Given the description of an element on the screen output the (x, y) to click on. 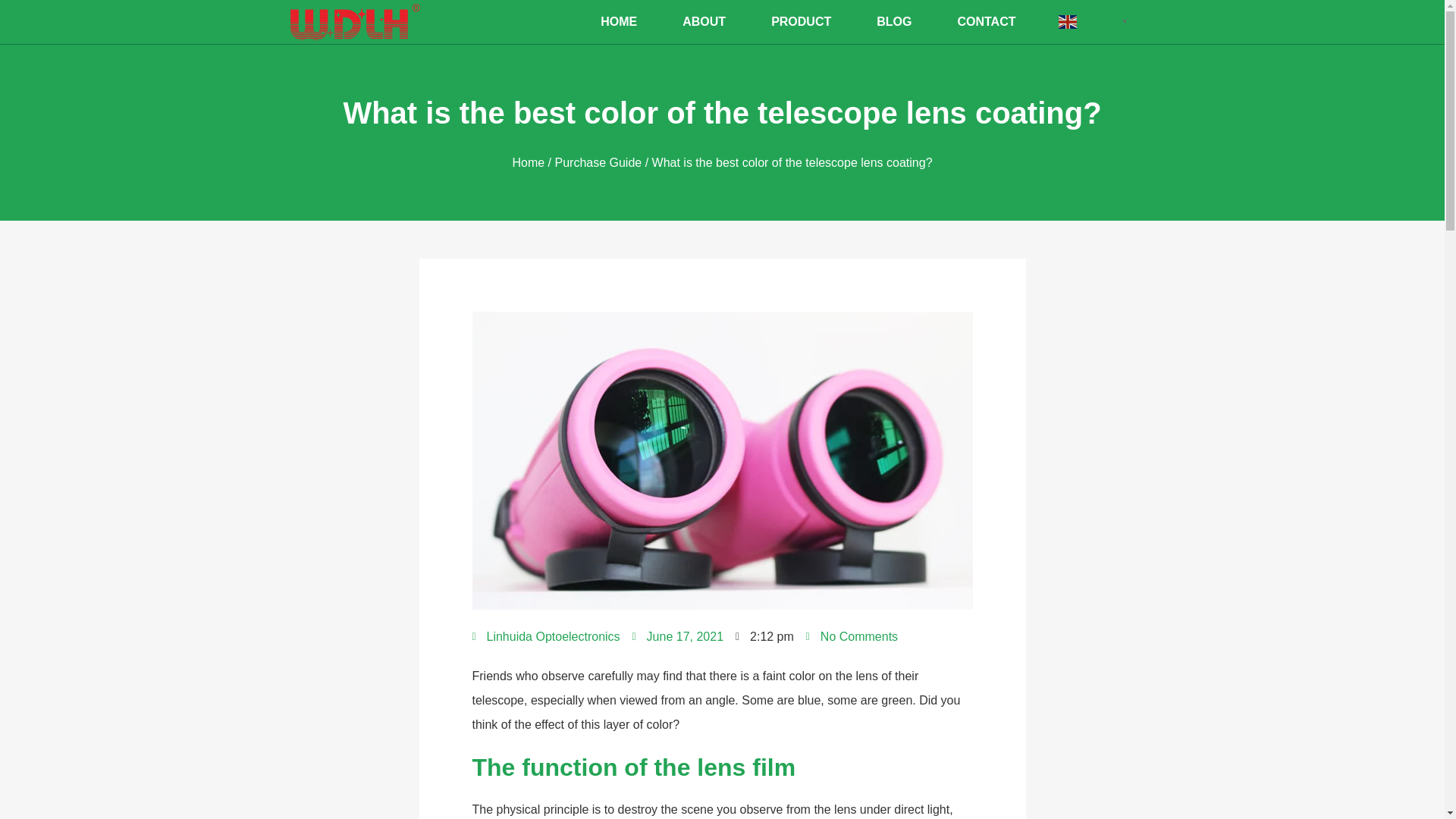
HOME (618, 22)
CONTACT (986, 22)
ABOUT (703, 22)
No Comments (852, 636)
Purchase Guide (598, 162)
Linhuida Optoelectronics (545, 636)
BLOG (893, 22)
Home (528, 162)
June 17, 2021 (677, 636)
PRODUCT (800, 22)
